Given the description of an element on the screen output the (x, y) to click on. 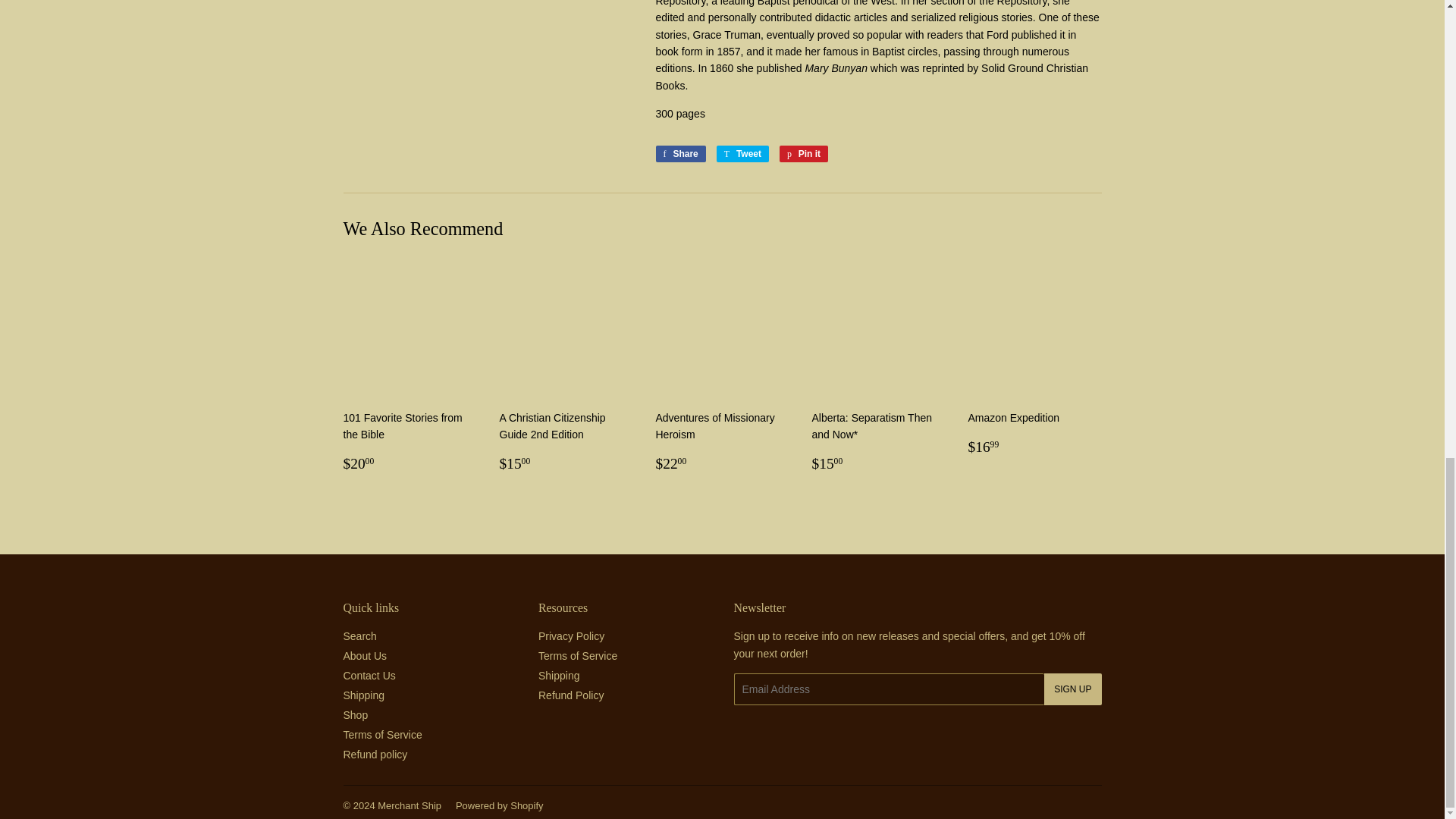
Pin on Pinterest (803, 153)
Tweet on Twitter (742, 153)
Share on Facebook (679, 153)
